Given the description of an element on the screen output the (x, y) to click on. 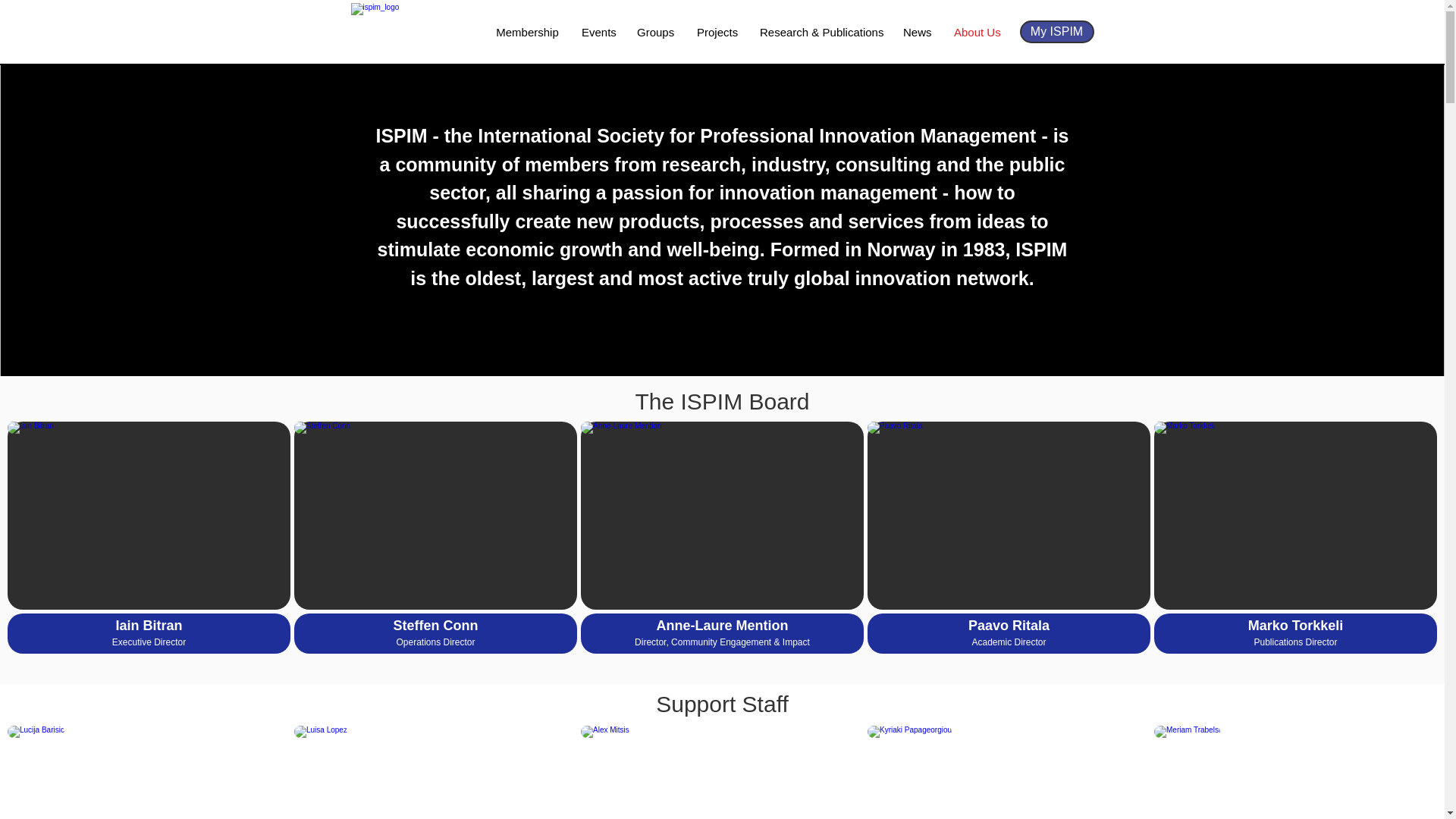
Projects (1008, 772)
Membership (716, 32)
Groups (721, 772)
News (527, 32)
